Given the description of an element on the screen output the (x, y) to click on. 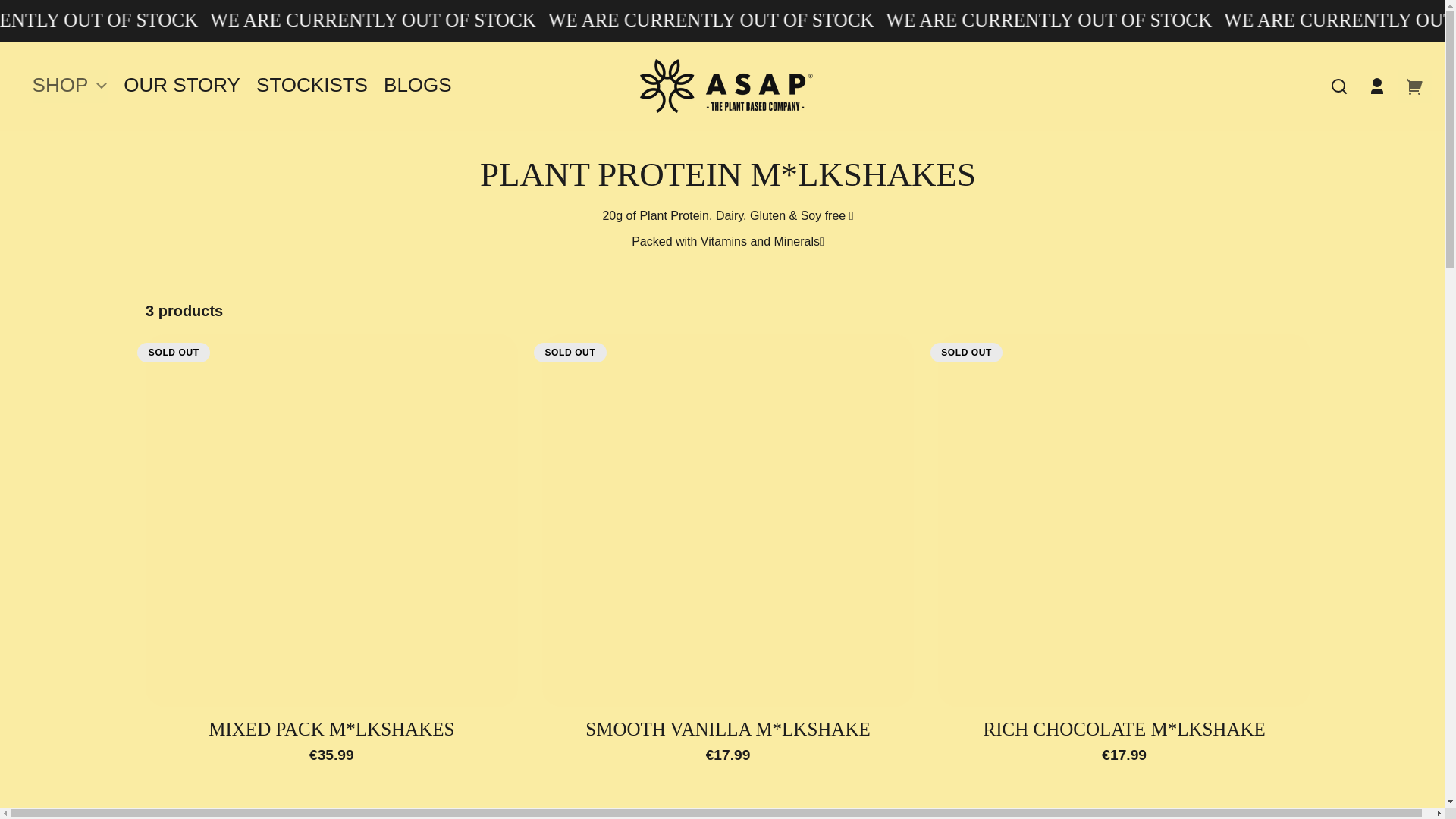
Log in (1376, 86)
BLOGS (417, 86)
SHOP (69, 86)
Your cart (1414, 86)
SKIP TO CONTENT (25, 16)
STOCKISTS (312, 86)
OUR STORY (181, 86)
